Given the description of an element on the screen output the (x, y) to click on. 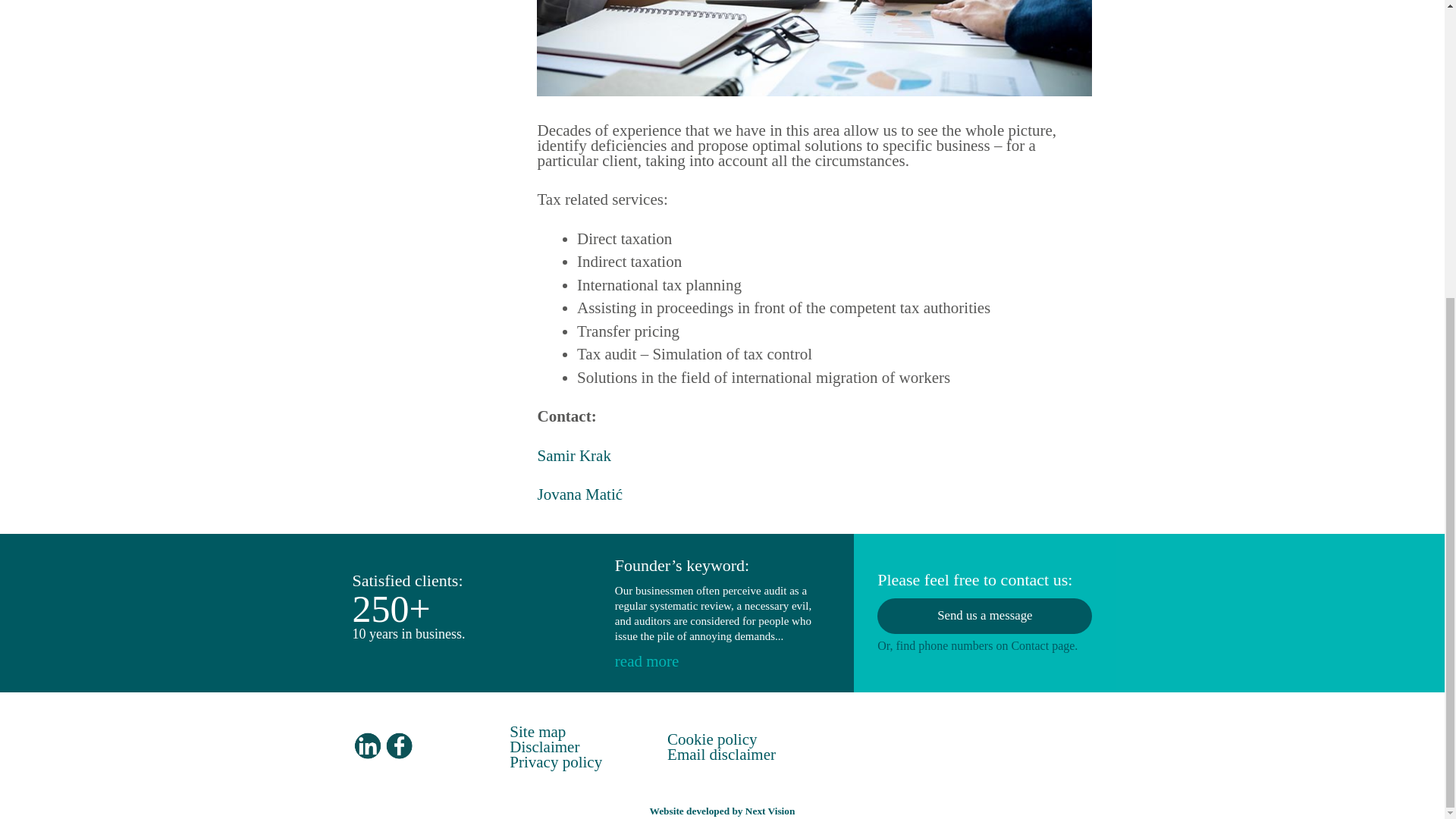
Privacy policy (555, 761)
Samir Krak (573, 455)
Next Vision (769, 810)
read more (646, 660)
Disclaimer (544, 746)
Send us a message (984, 615)
Site map (537, 731)
Cookie policy (711, 739)
Email disclaimer (721, 754)
Or, find phone numbers on Contact page. (977, 645)
